Given the description of an element on the screen output the (x, y) to click on. 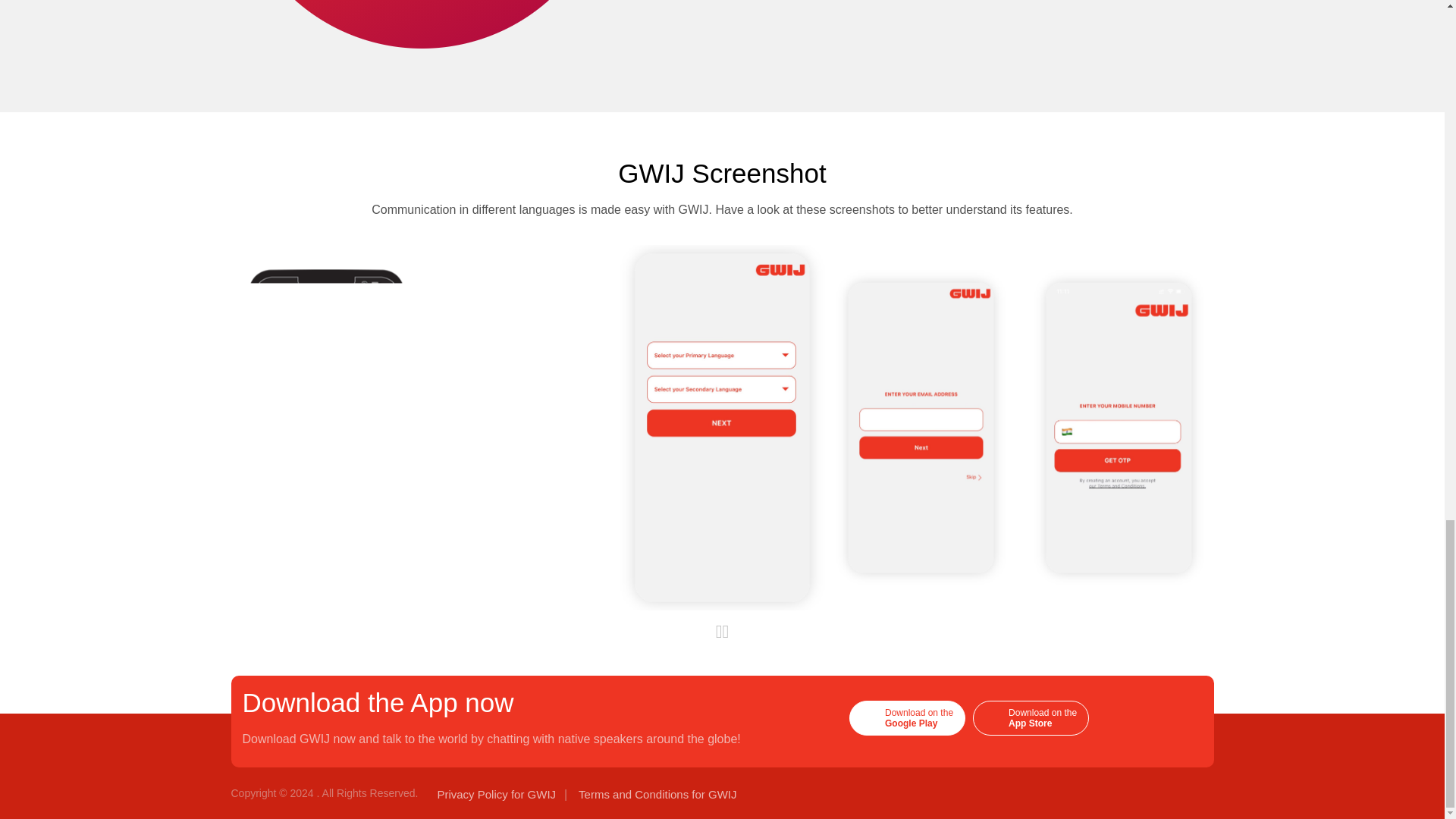
Privacy Policy for GWIJ (496, 793)
Terms and Conditions for GWIJ (906, 718)
